Given the description of an element on the screen output the (x, y) to click on. 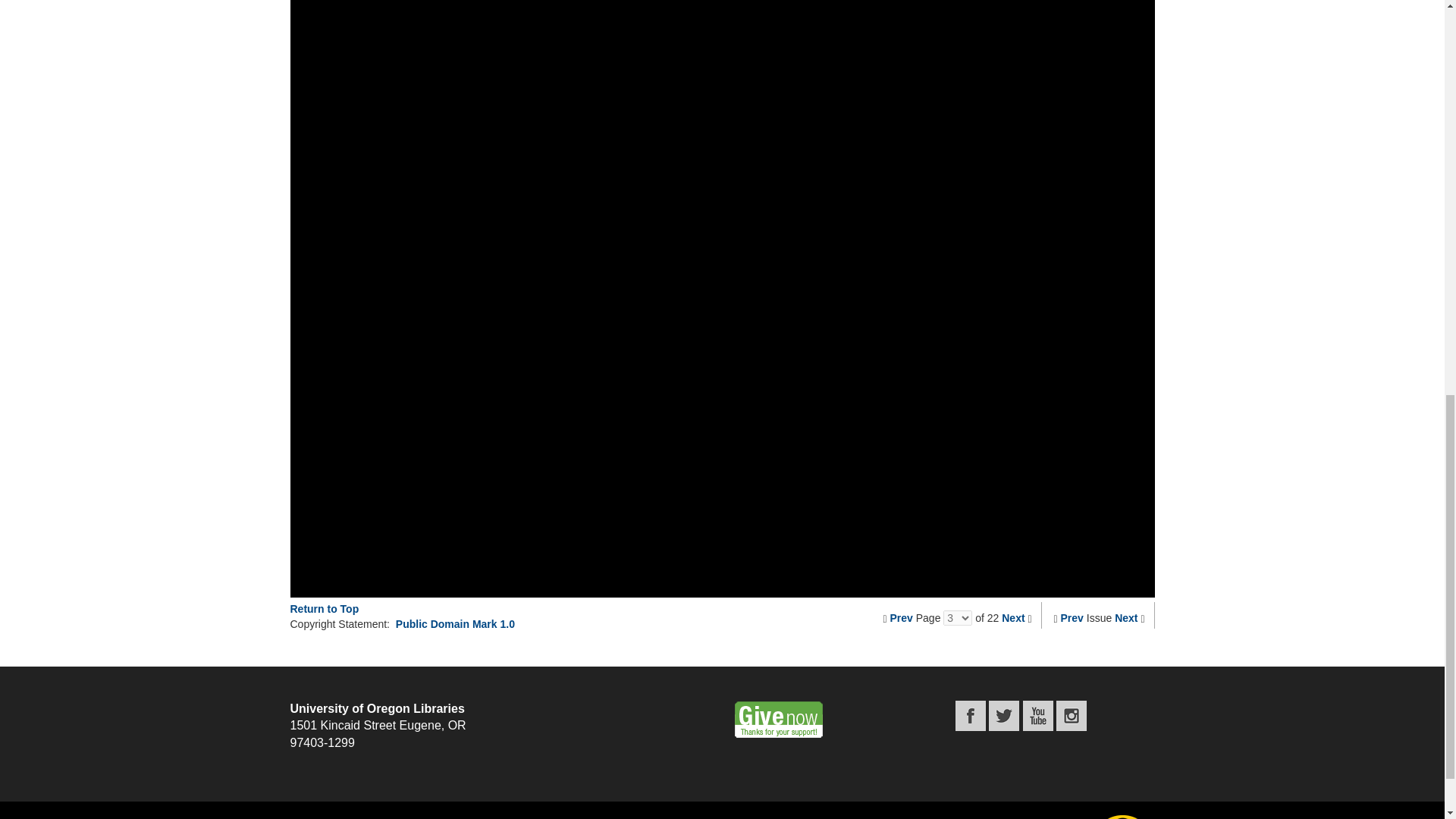
Return to Top (323, 608)
Public Domain Mark 1.0 (455, 623)
Next (1126, 617)
Prev (1072, 617)
Next (1013, 617)
Prev (900, 617)
